Given the description of an element on the screen output the (x, y) to click on. 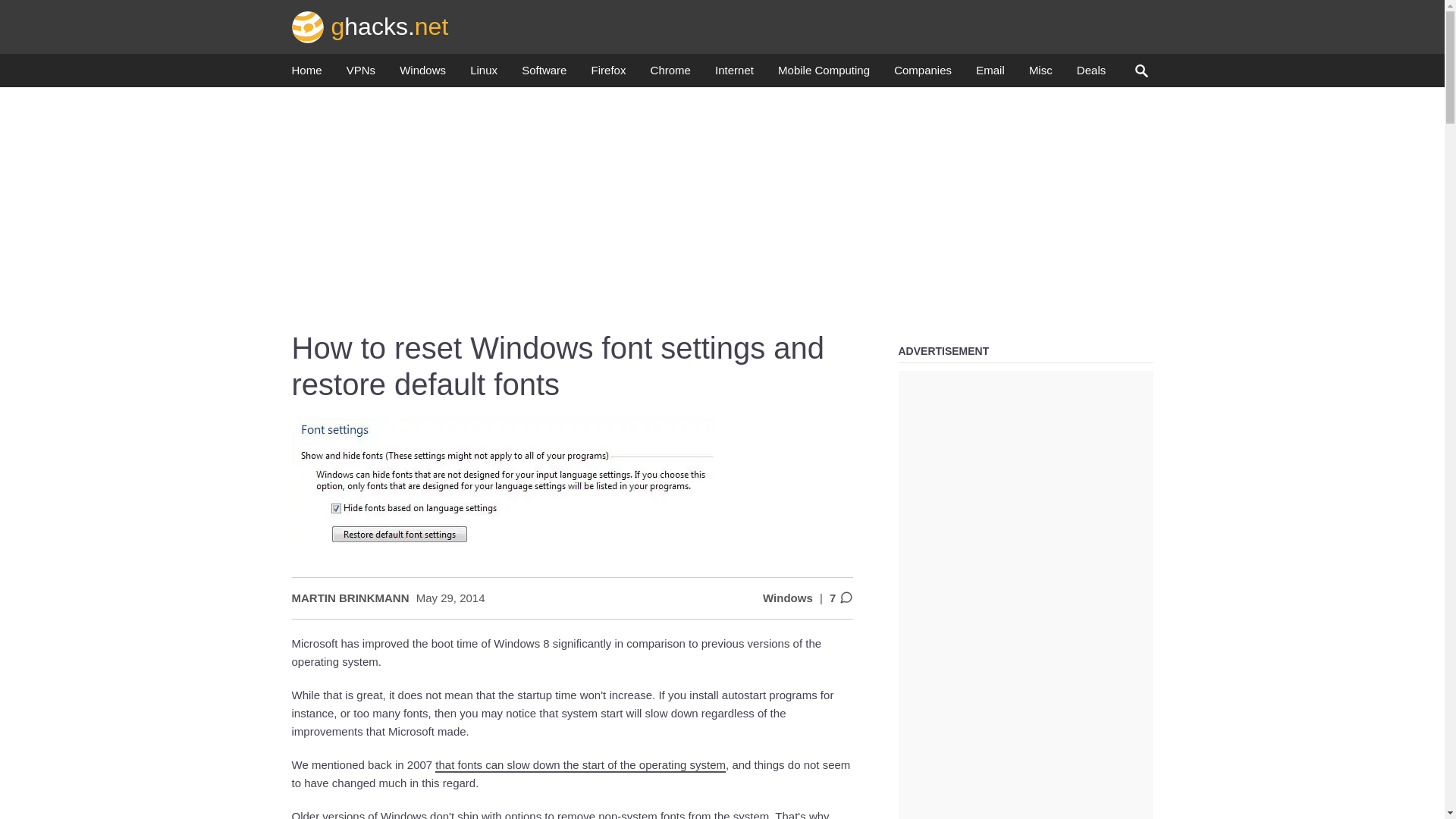
Chrome (670, 73)
Mobile Computing (823, 73)
ghacks.net (369, 26)
Home (306, 73)
Email (989, 73)
Internet (734, 73)
Deals (1091, 73)
VPNs (360, 73)
Software (543, 73)
Windows (421, 73)
